Given the description of an element on the screen output the (x, y) to click on. 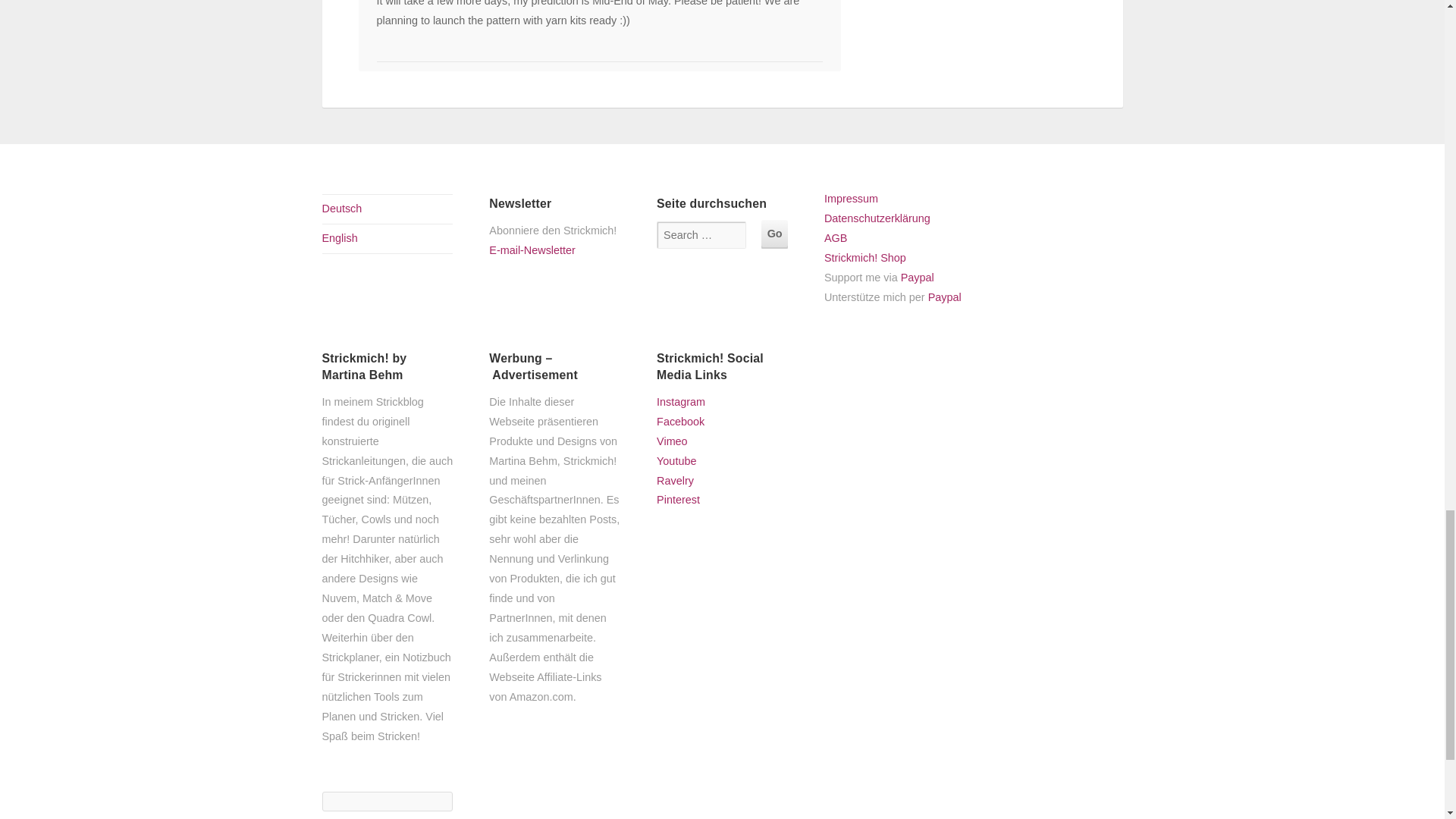
Go (774, 233)
English (338, 237)
English (338, 237)
Deutsch (341, 208)
Go (774, 233)
Impressum (850, 198)
E-mail-Newsletter (552, 260)
Deutsch (341, 208)
